Given the description of an element on the screen output the (x, y) to click on. 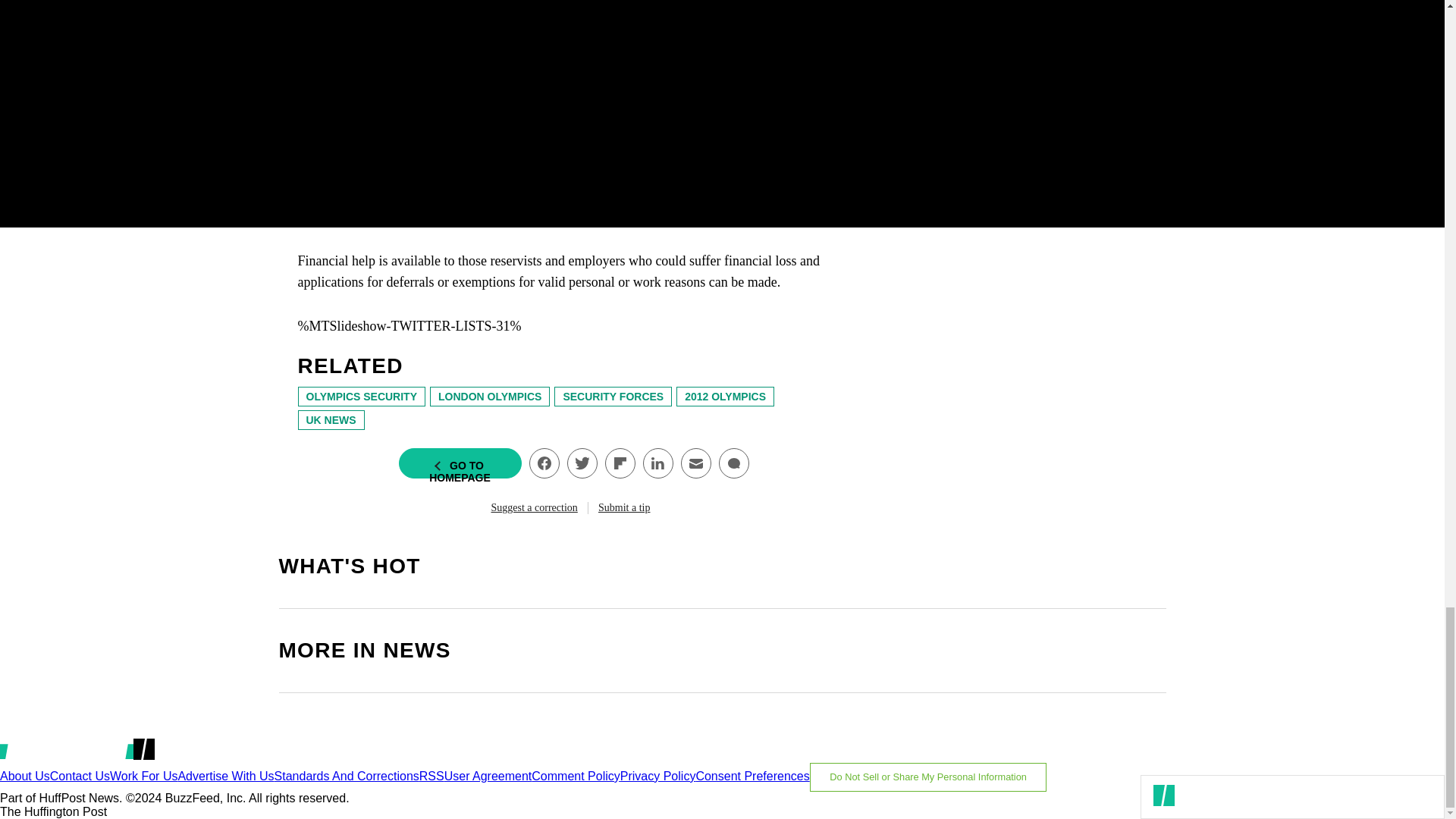
SIGN UP (1098, 130)
